Given the description of an element on the screen output the (x, y) to click on. 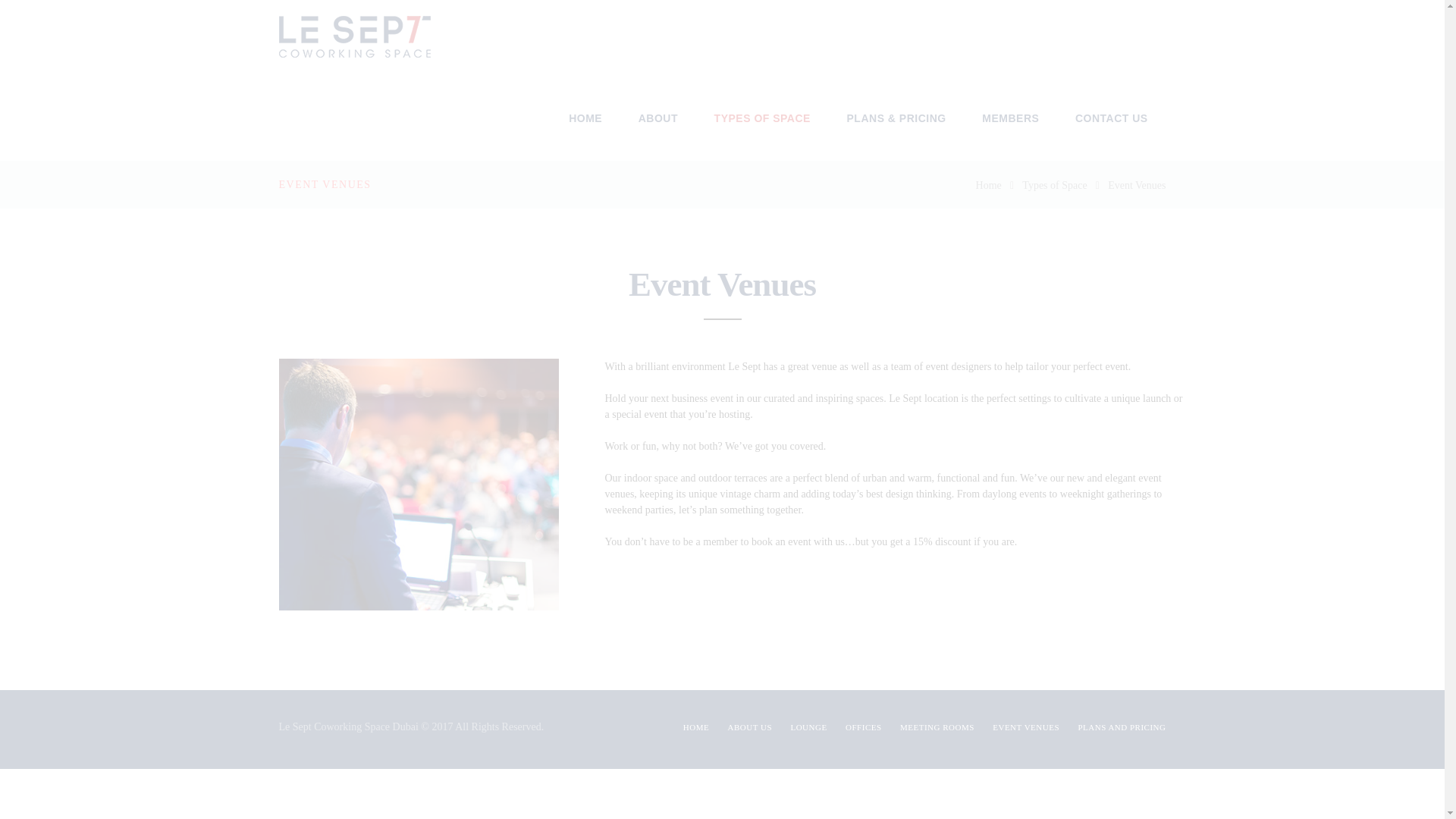
Growth Accelerator (416, 40)
HOME (585, 118)
EVENT VENUES (1025, 727)
MEETING ROOMS (936, 727)
OFFICES (863, 727)
CONTACT US (1111, 118)
Types of Space (1054, 185)
Home (988, 185)
HOME (695, 727)
MEMBERS (1010, 118)
